Given the description of an element on the screen output the (x, y) to click on. 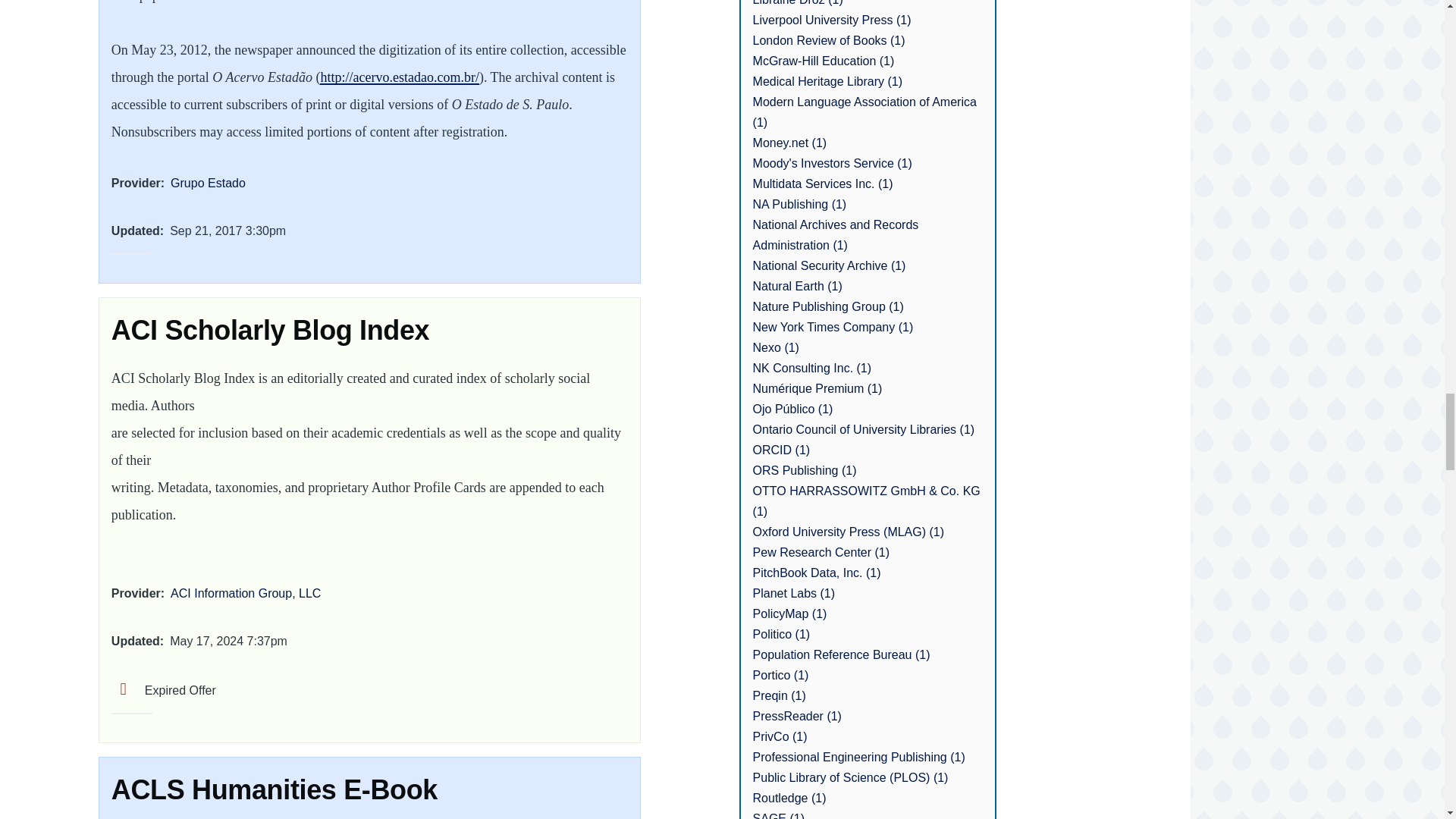
Expired Offer (163, 689)
